Given the description of an element on the screen output the (x, y) to click on. 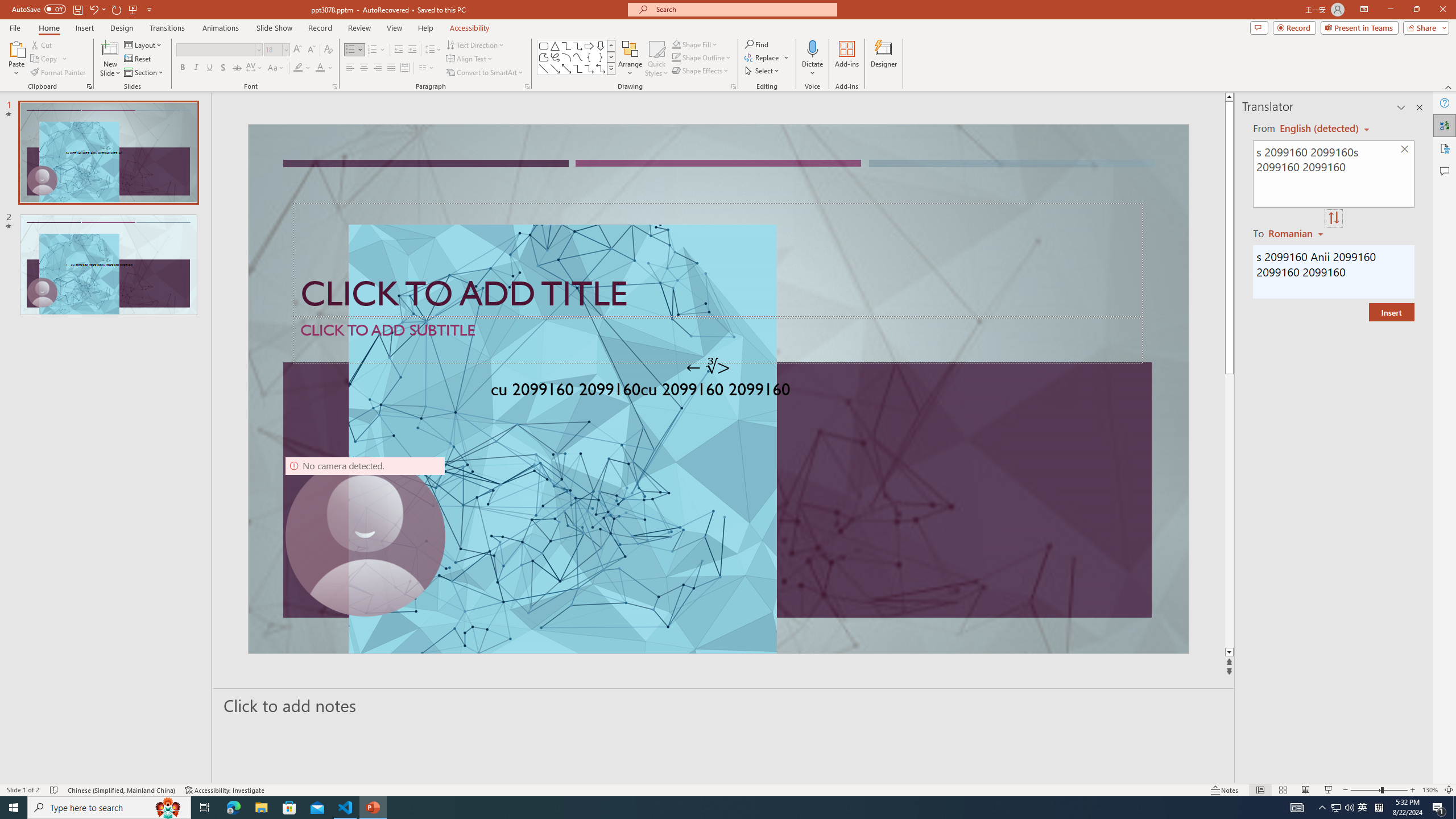
Swap "from" and "to" languages. (1333, 218)
Connector: Elbow Double-Arrow (600, 68)
